Given the description of an element on the screen output the (x, y) to click on. 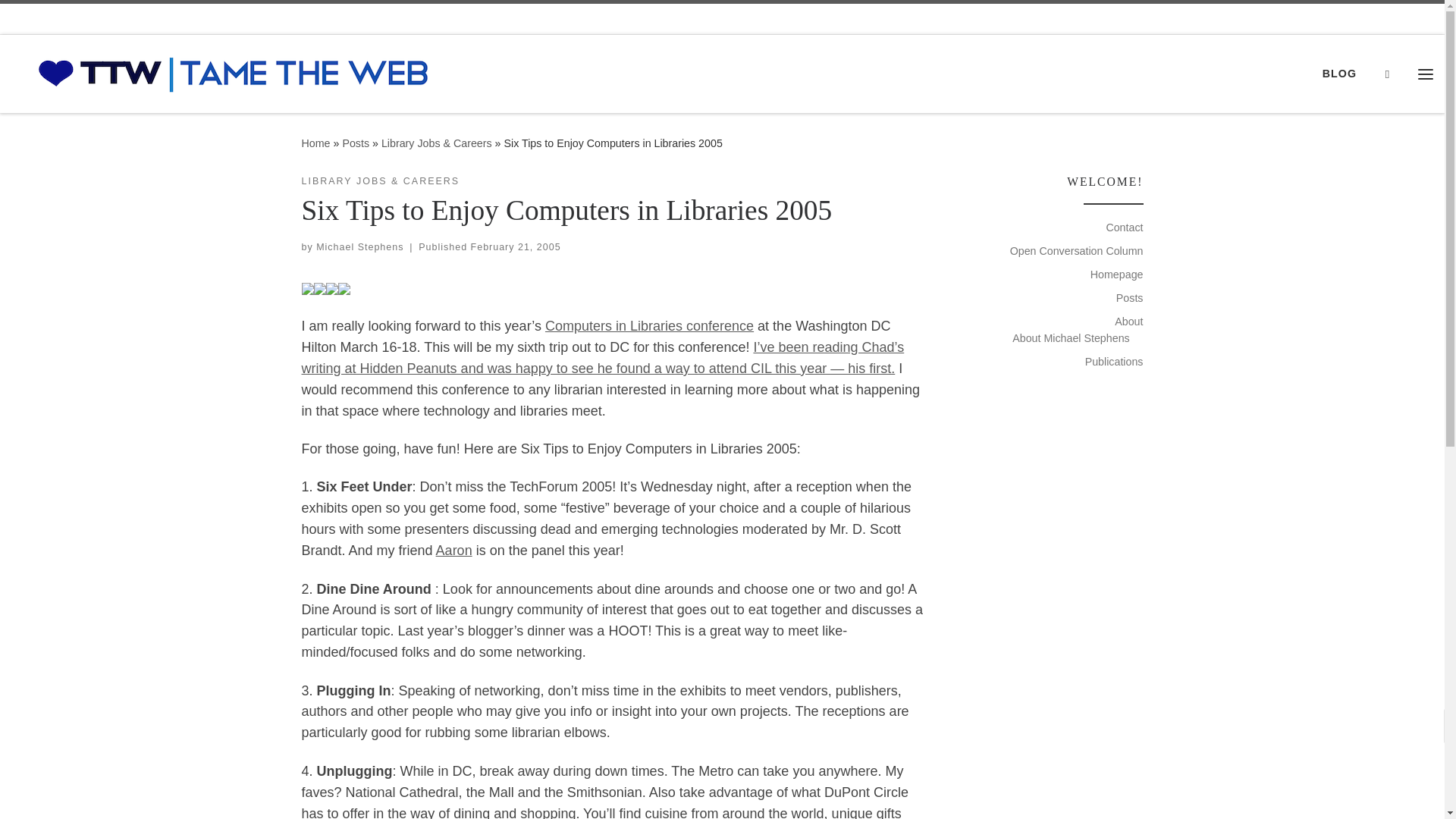
About (1128, 321)
Posts (355, 143)
Michael Stephens (359, 246)
11:26 am (515, 246)
Skip to content (60, 20)
Posts (1129, 297)
Computers in Libraries conference (649, 325)
Homepage (1116, 274)
Tame the Web (315, 143)
About Michael Stephens (1070, 338)
